Given the description of an element on the screen output the (x, y) to click on. 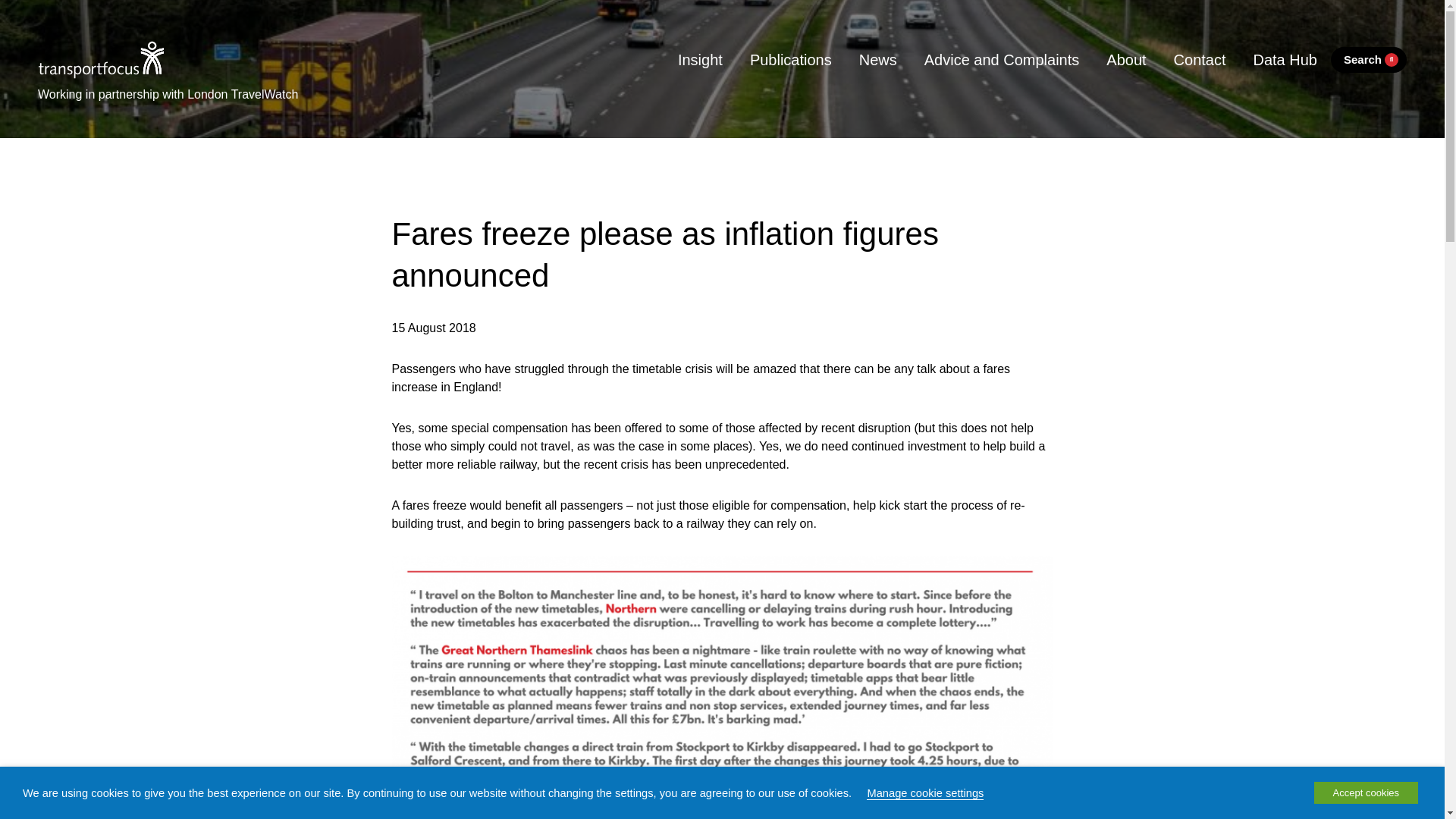
Working in partnership with London TravelWatch (167, 91)
Contact (1200, 59)
Data Hub (1284, 59)
About (1125, 59)
Publications (790, 59)
Insight (699, 59)
News (878, 59)
Search (1368, 59)
Advice and Complaints (1002, 59)
